Given the description of an element on the screen output the (x, y) to click on. 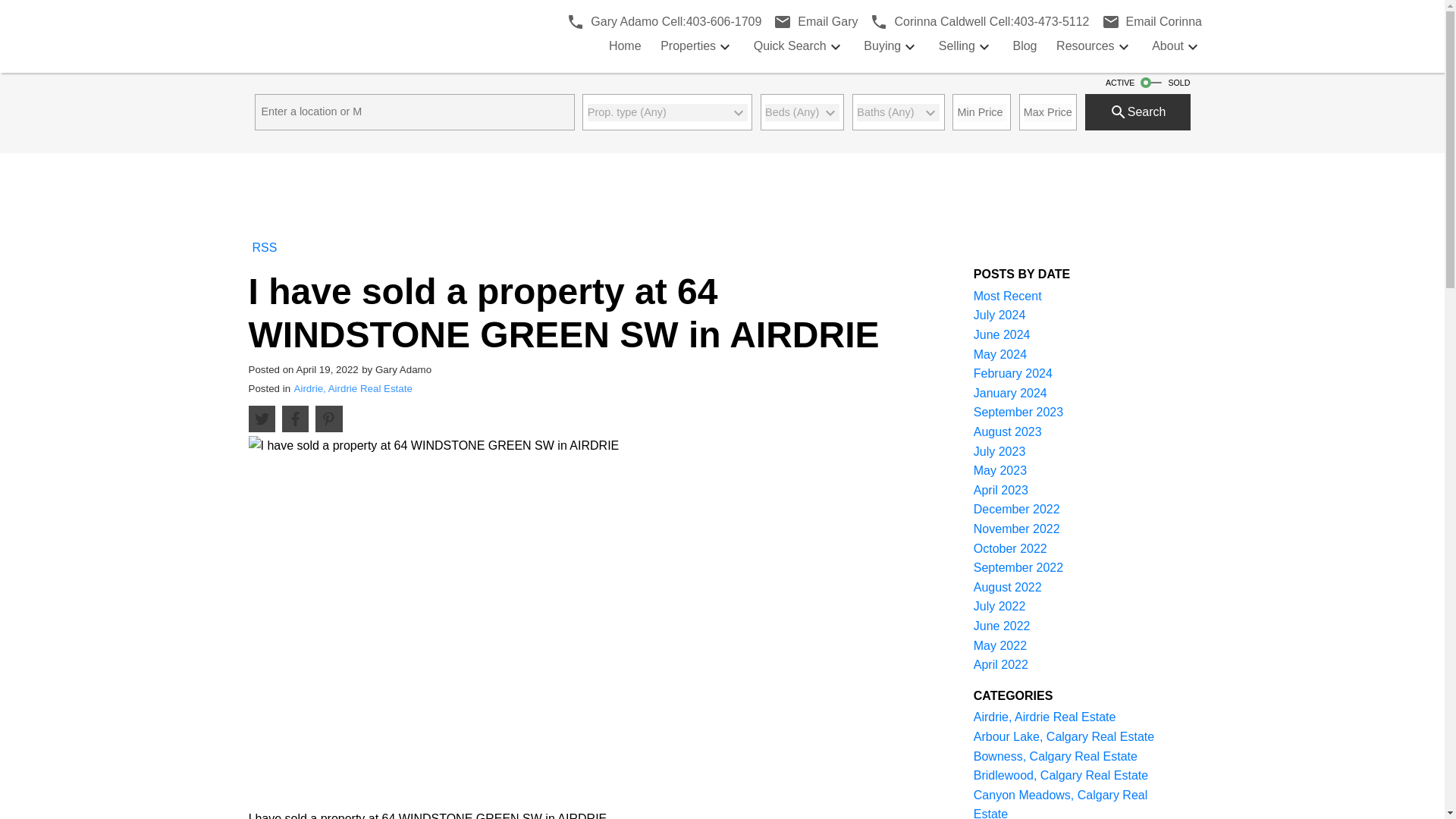
June 2024 (976, 21)
May 2024 (1002, 334)
Home (1000, 354)
July 2024 (625, 46)
Email Gary (1000, 314)
February 2024 (812, 21)
Search (1013, 373)
Airdrie, Airdrie Real Estate (660, 21)
Blog (1137, 112)
Email Corinna (353, 388)
Most Recent (1023, 46)
RSS (1149, 21)
